Given the description of an element on the screen output the (x, y) to click on. 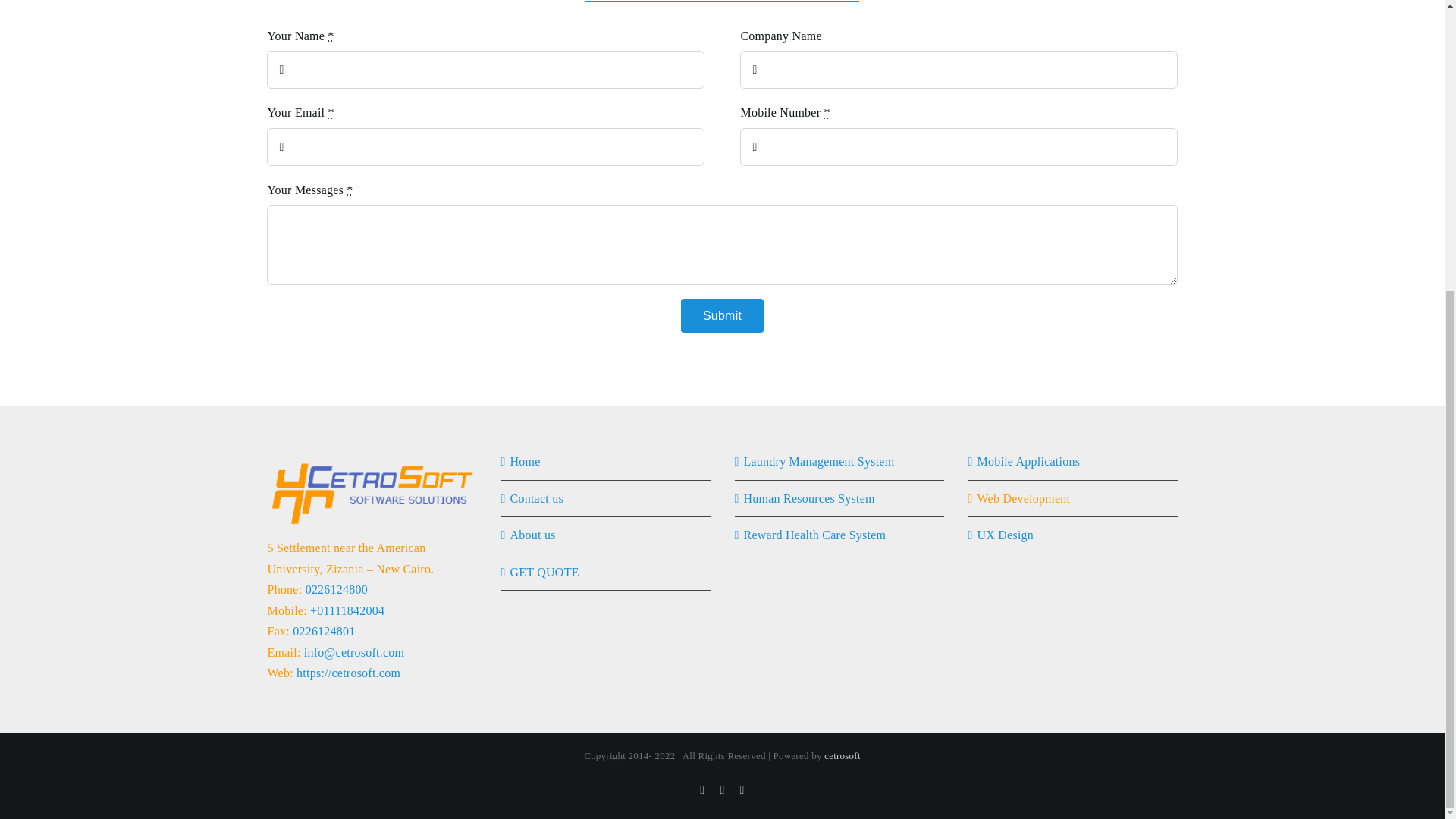
Submit (721, 315)
0226124800 (336, 589)
0226124801 (323, 631)
